Given the description of an element on the screen output the (x, y) to click on. 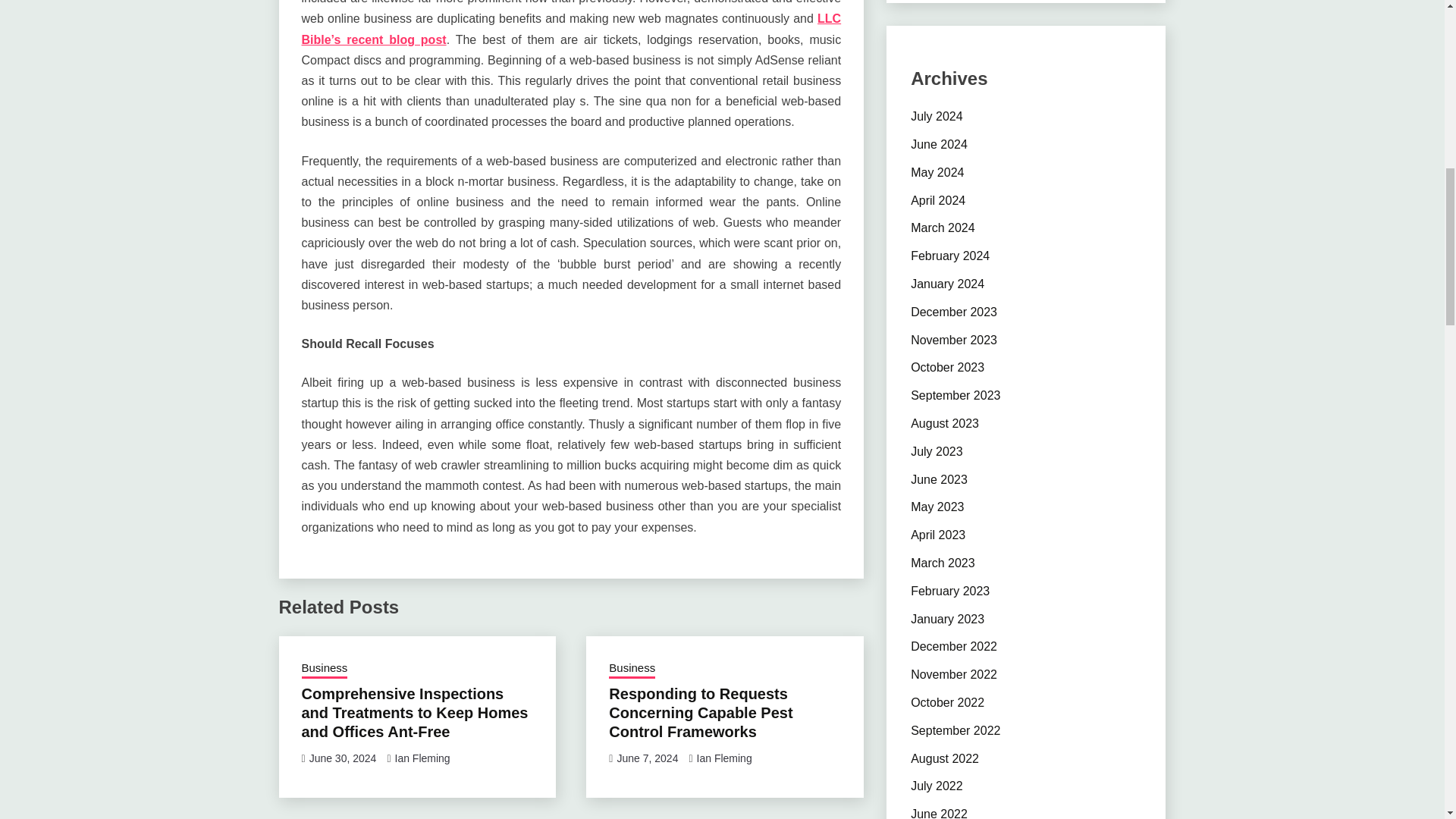
July 2024 (936, 115)
Business (324, 669)
Ian Fleming (421, 758)
Business (631, 669)
Ian Fleming (724, 758)
June 7, 2024 (646, 758)
June 30, 2024 (342, 758)
June 2024 (939, 144)
